Given the description of an element on the screen output the (x, y) to click on. 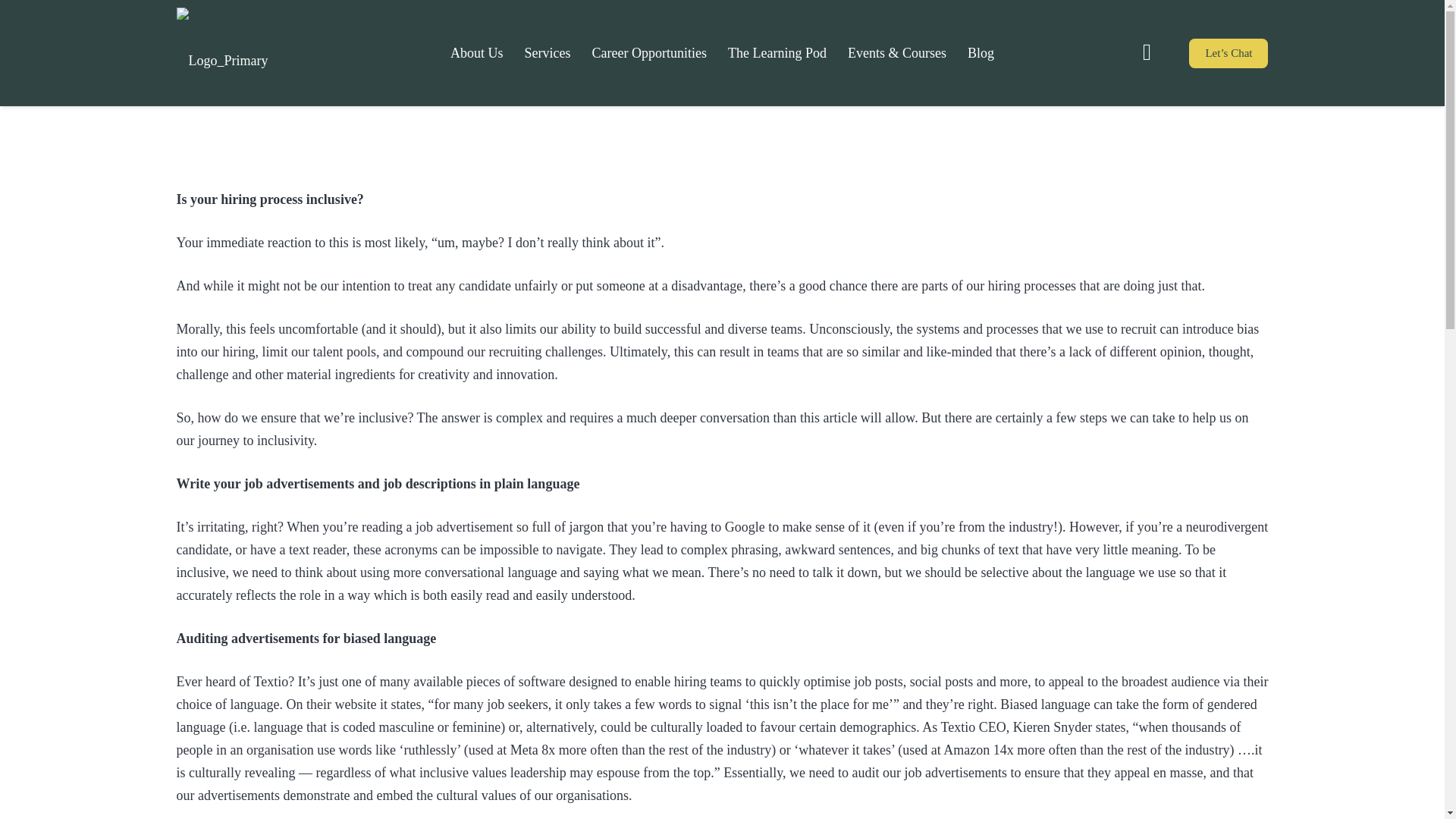
Career Opportunities (648, 53)
Title (1147, 52)
The Learning Pod (777, 53)
